Given the description of an element on the screen output the (x, y) to click on. 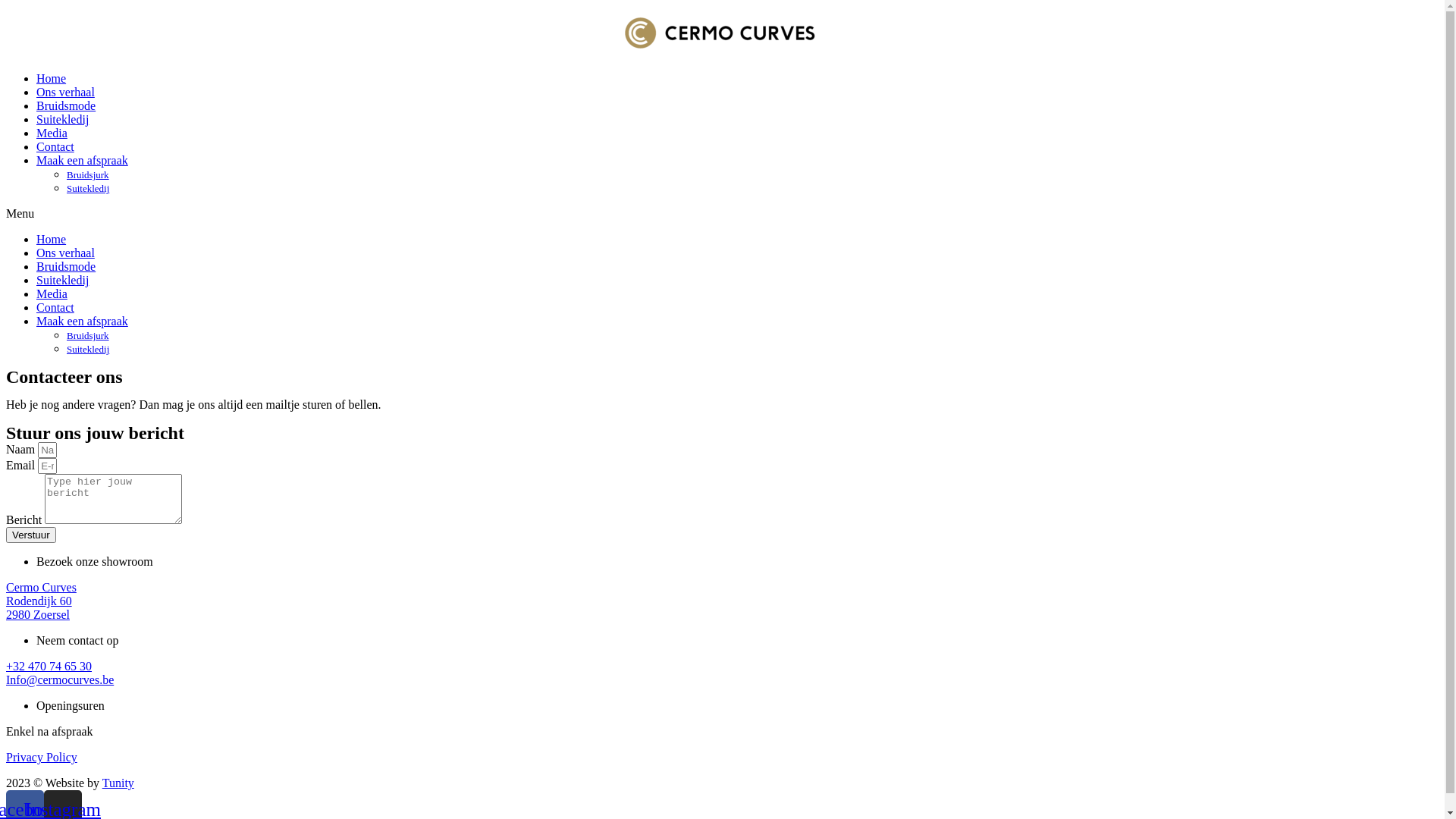
Maak een afspraak Element type: text (82, 320)
Cermo Curves Element type: text (41, 586)
Verstuur Element type: text (31, 534)
Info@cermocurves.be Element type: text (59, 679)
Tunity Element type: text (118, 782)
Contact Element type: text (55, 146)
+32 470 74 65 30 Element type: text (48, 665)
Suitekledij Element type: text (62, 118)
Bruidsmode Element type: text (65, 266)
Media Element type: text (51, 293)
Home Element type: text (50, 78)
Suitekledij Element type: text (62, 279)
Ons verhaal Element type: text (65, 252)
2980 Zoersel Element type: text (37, 614)
Bruidsmode Element type: text (65, 105)
Home Element type: text (50, 238)
Media Element type: text (51, 132)
Bruidsjurk Element type: text (87, 335)
Ons verhaal Element type: text (65, 91)
Rodendijk 60 Element type: text (39, 600)
Privacy Policy Element type: text (41, 756)
Suitekledij Element type: text (87, 348)
Suitekledij Element type: text (87, 188)
Bruidsjurk Element type: text (87, 174)
Contact Element type: text (55, 307)
Maak een afspraak Element type: text (82, 159)
